Given the description of an element on the screen output the (x, y) to click on. 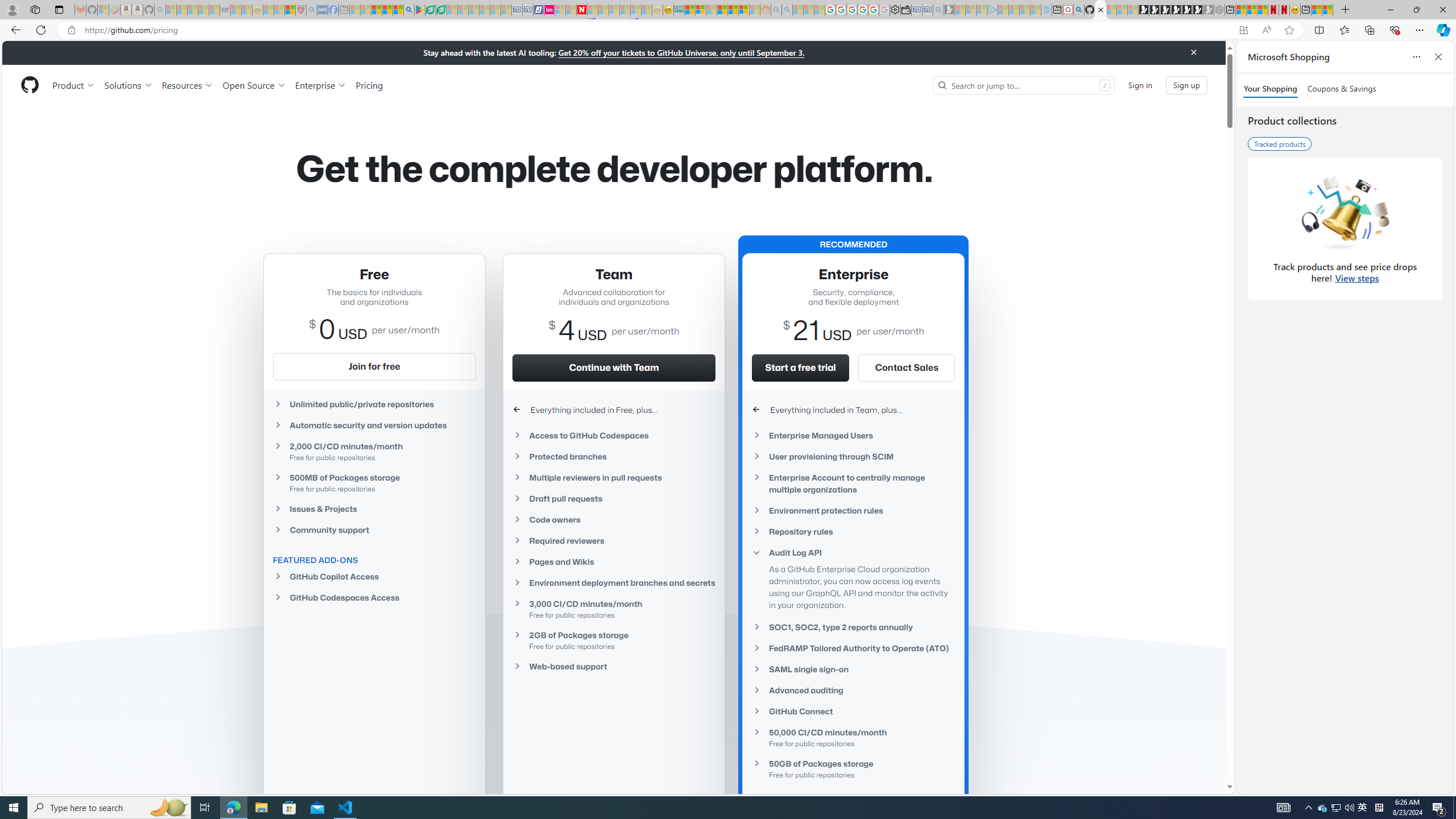
Access to GitHub Codespaces (614, 435)
FedRAMP Tailored Authority to Operate (ATO) (853, 648)
2GB of Packages storageFree for public repositories (614, 640)
Pages and Wikis (614, 561)
Web-based support (614, 666)
App available. Install GitHub (1243, 29)
Expert Portfolios (721, 9)
